Given the description of an element on the screen output the (x, y) to click on. 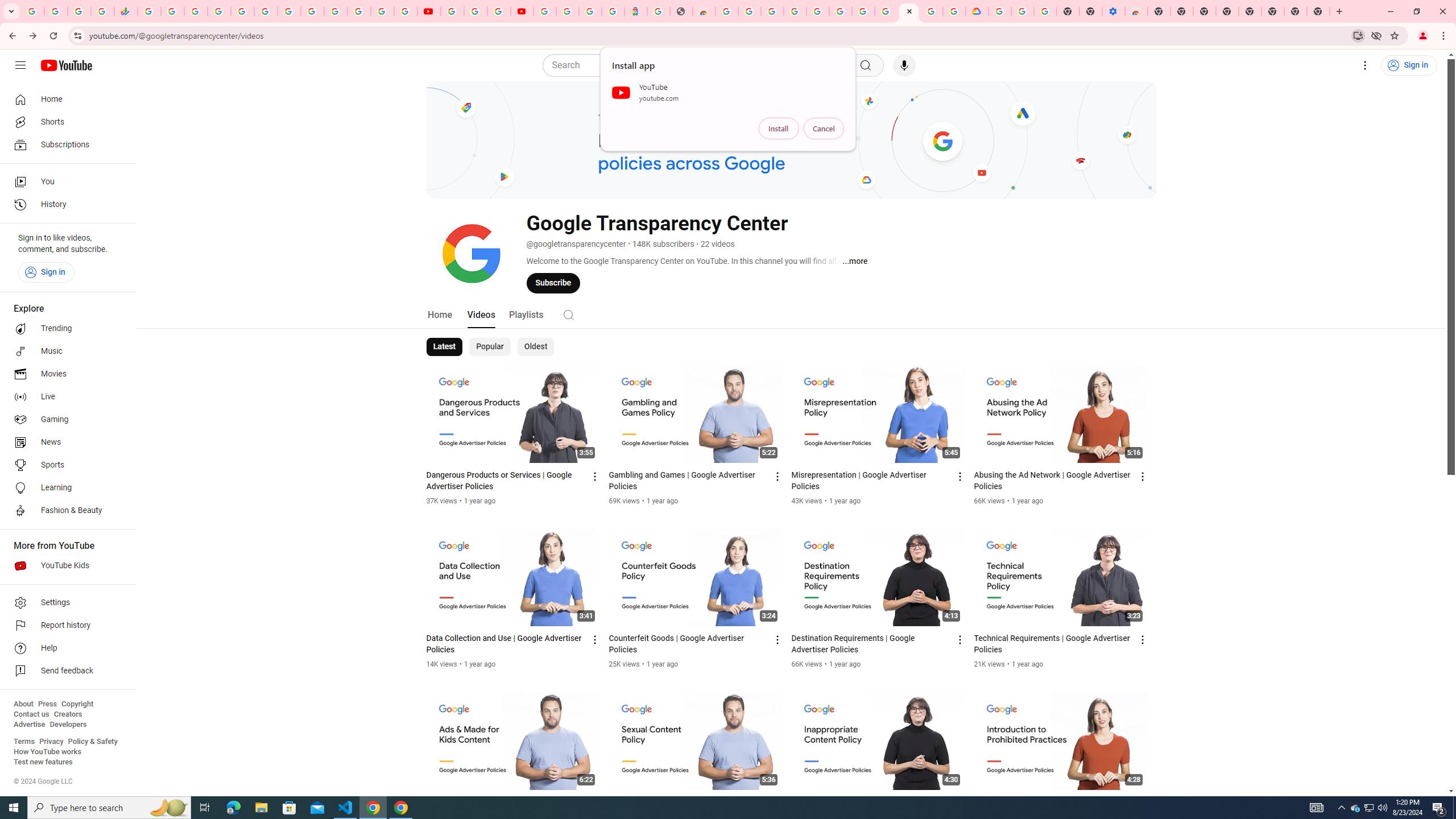
Sports (64, 464)
Advertise (29, 724)
Latest (444, 346)
Contact us (31, 714)
Sign in - Google Accounts (817, 11)
YouTube (312, 11)
